Given the description of an element on the screen output the (x, y) to click on. 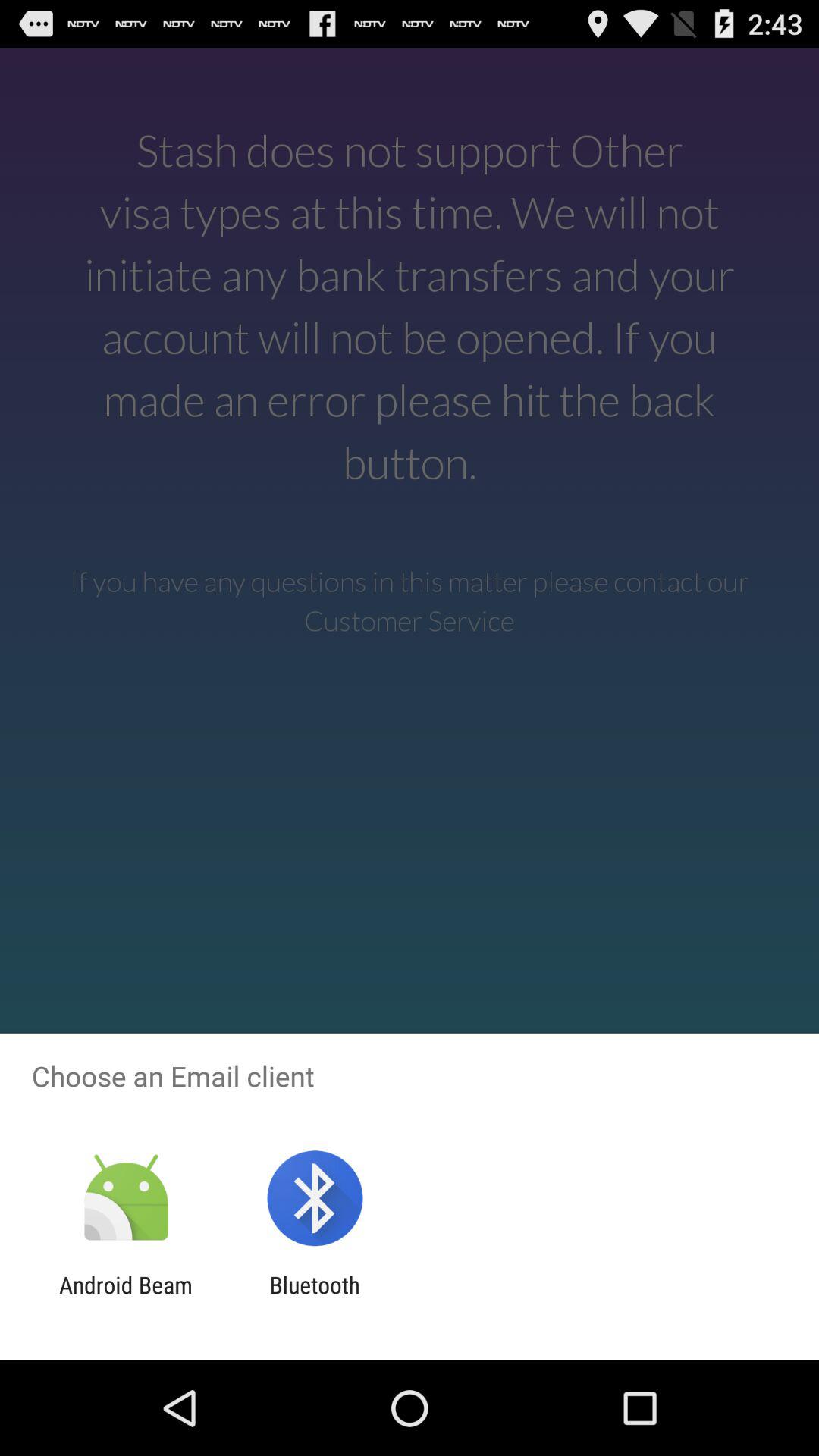
open bluetooth item (314, 1298)
